Given the description of an element on the screen output the (x, y) to click on. 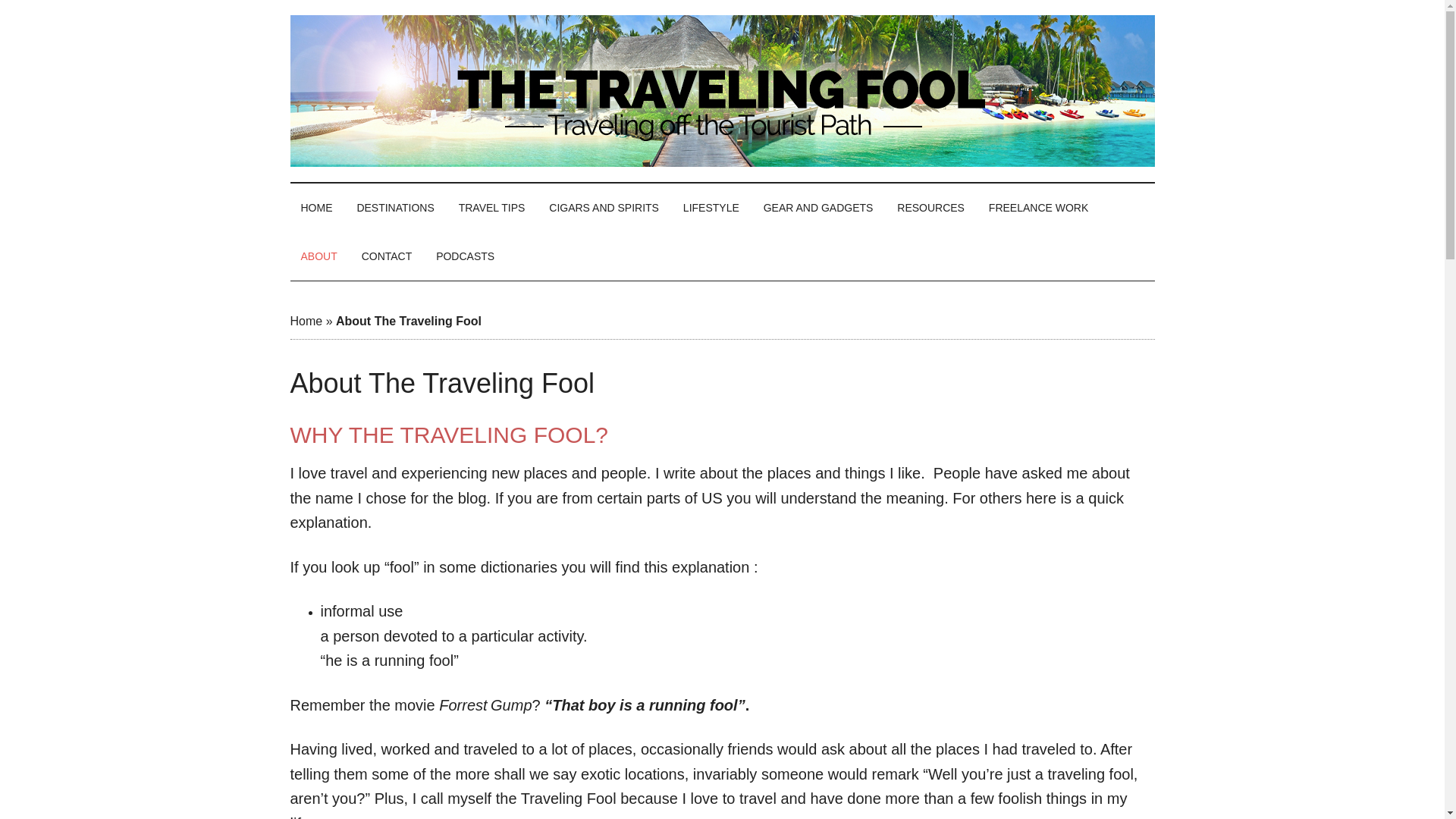
DESTINATIONS (395, 207)
RESOURCES (930, 207)
HOME (315, 207)
GEAR AND GADGETS (817, 207)
CIGARS AND SPIRITS (603, 207)
TRAVEL TIPS (491, 207)
PODCASTS (465, 255)
The Traveling Fool (721, 91)
FREELANCE WORK (1038, 207)
LIFESTYLE (710, 207)
